Given the description of an element on the screen output the (x, y) to click on. 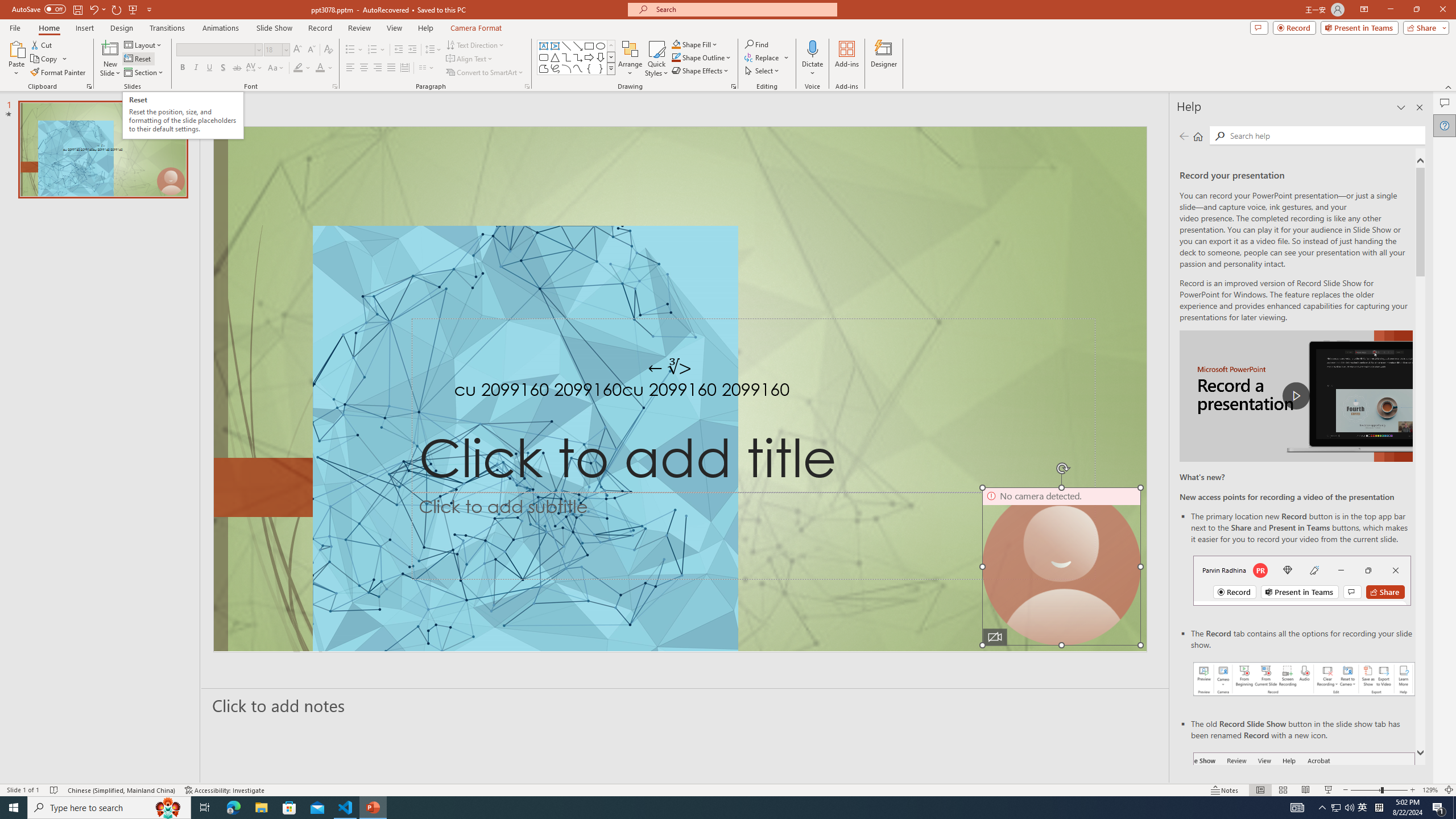
Bullets (354, 49)
Distributed (404, 67)
Previous page (1183, 136)
Align Left (349, 67)
Search (1325, 135)
Left Brace (589, 68)
Numbering (372, 49)
Font Size (276, 49)
